Given the description of an element on the screen output the (x, y) to click on. 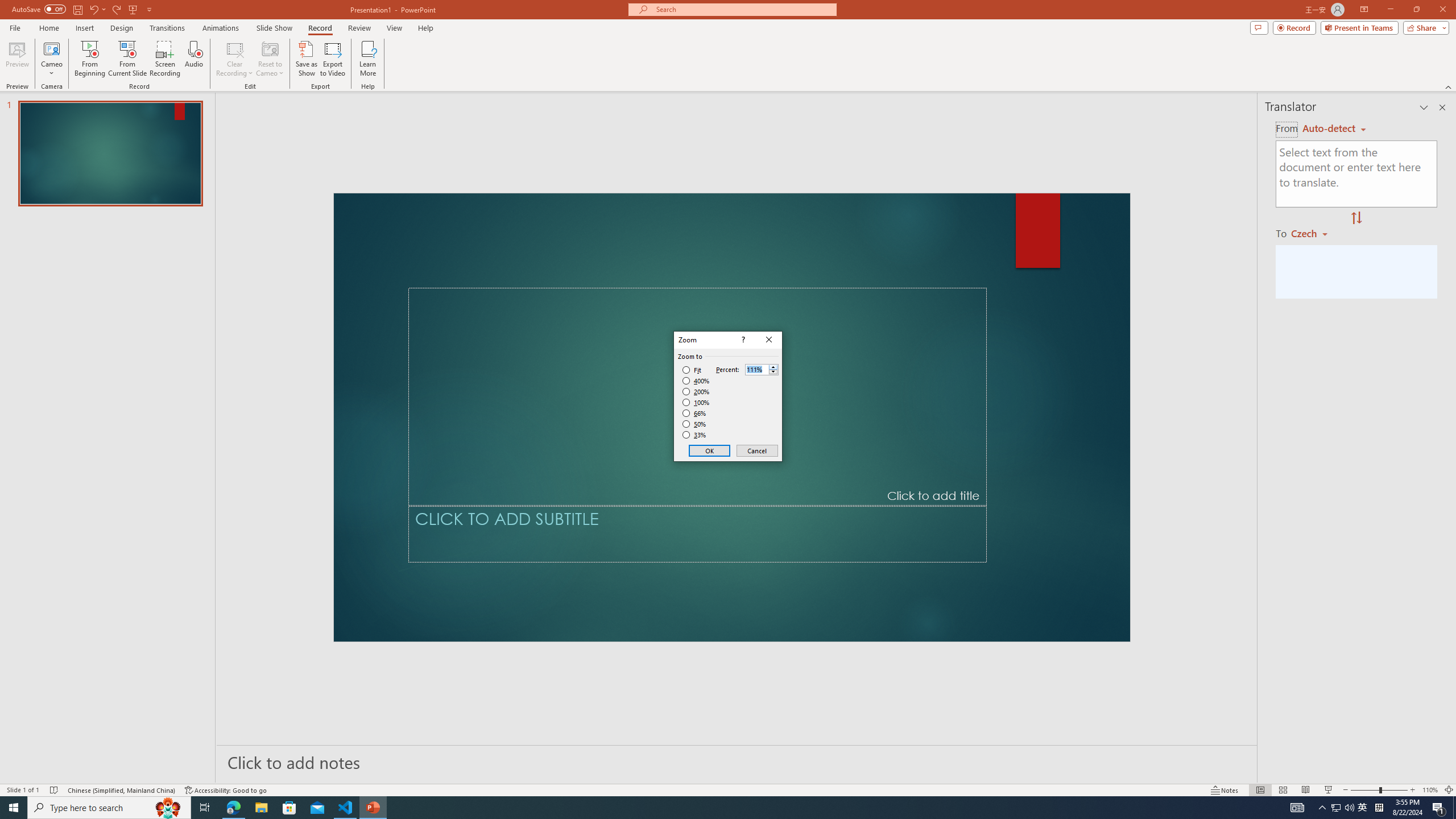
400% (696, 380)
Czech (1313, 232)
